Given the description of an element on the screen output the (x, y) to click on. 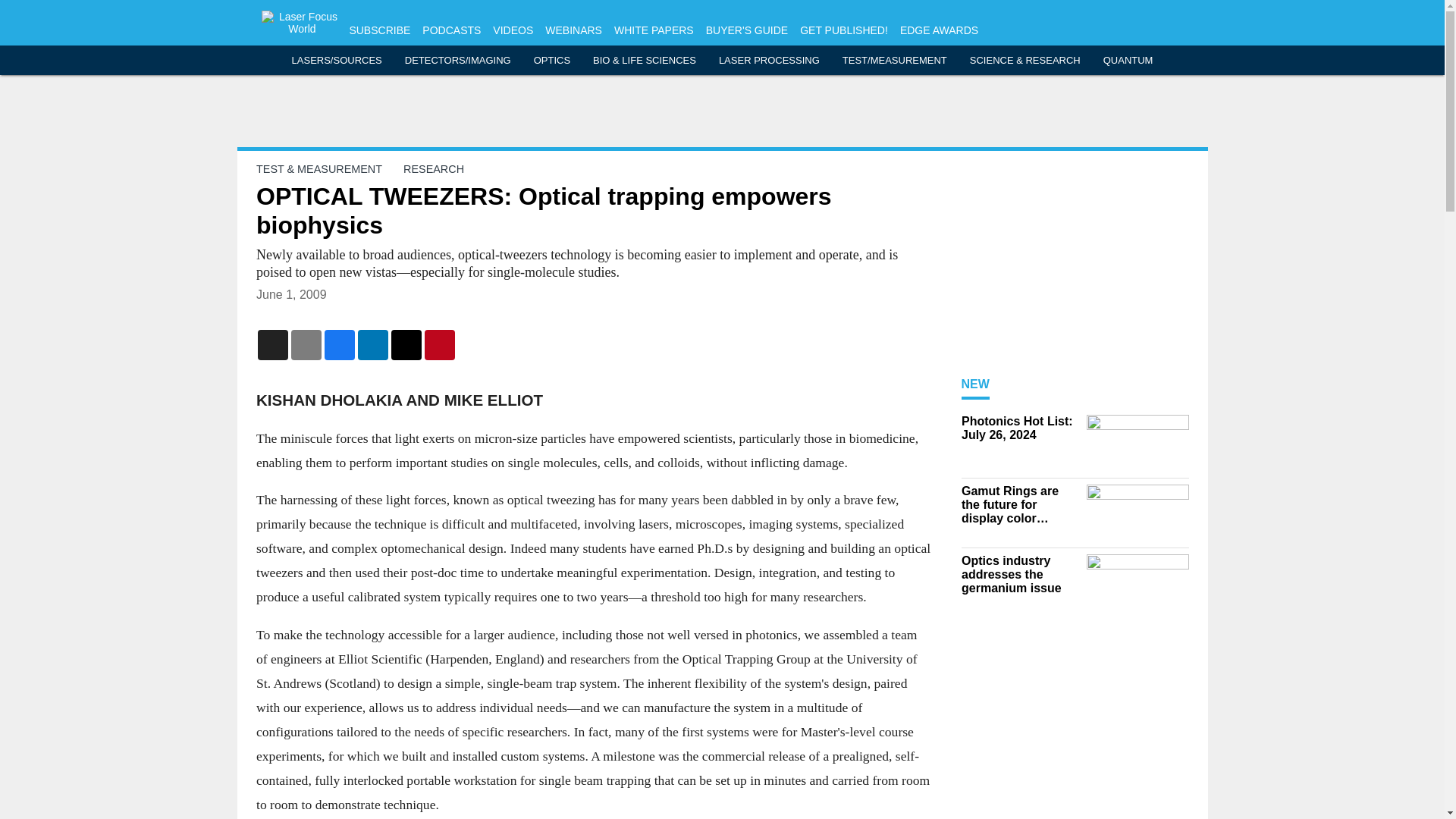
LASER PROCESSING (769, 60)
SUBSCRIBE (379, 30)
VIDEOS (512, 30)
GET PUBLISHED! (843, 30)
PODCASTS (451, 30)
QUANTUM (1128, 60)
EDGE AWARDS (938, 30)
OPTICS (552, 60)
WEBINARS (573, 30)
RESEARCH (433, 168)
WHITE PAPERS (654, 30)
BUYER'S GUIDE (746, 30)
